Given the description of an element on the screen output the (x, y) to click on. 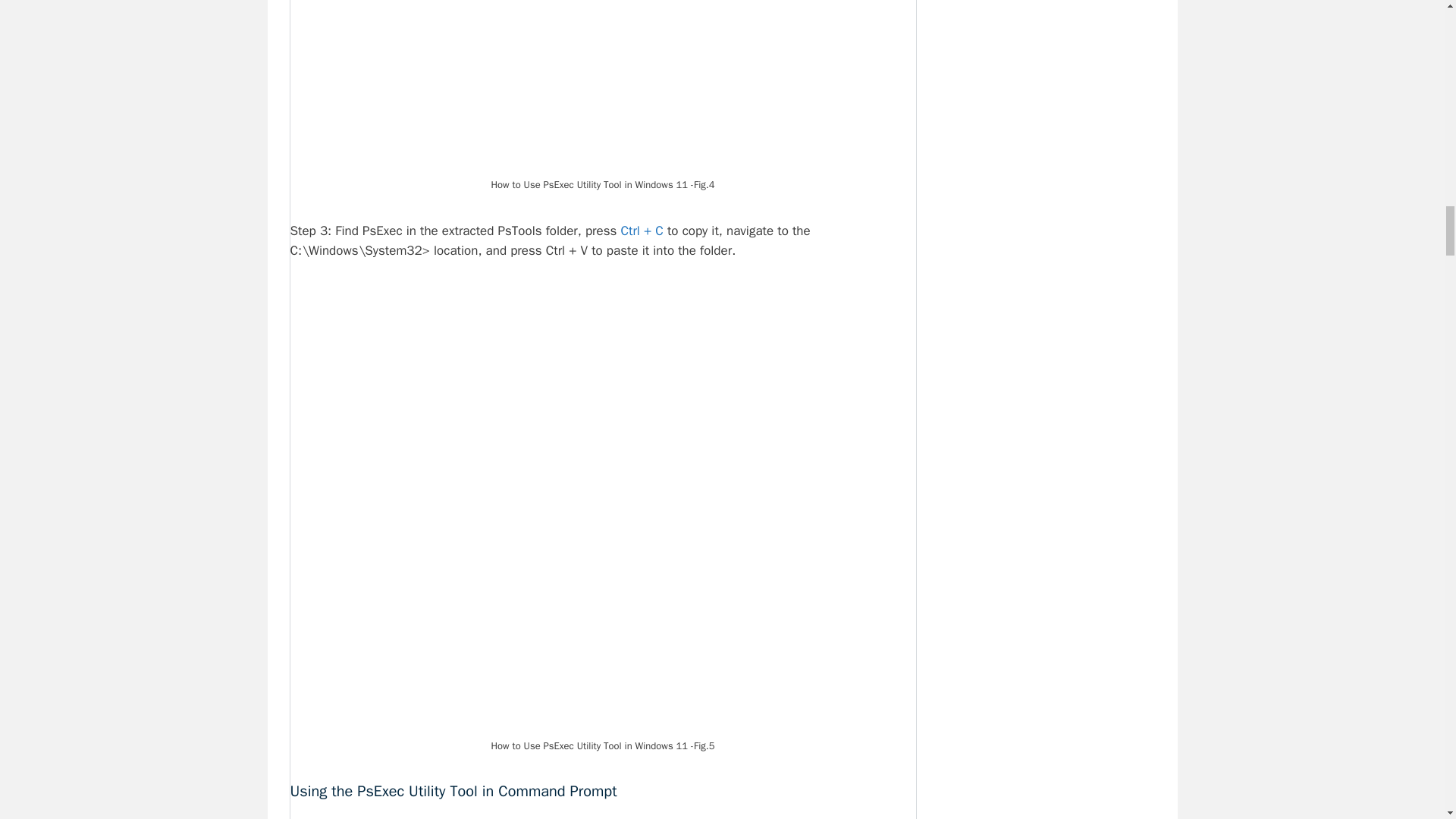
How to Use PsExec Utility Tool in Windows 11 4 (601, 86)
